Given the description of an element on the screen output the (x, y) to click on. 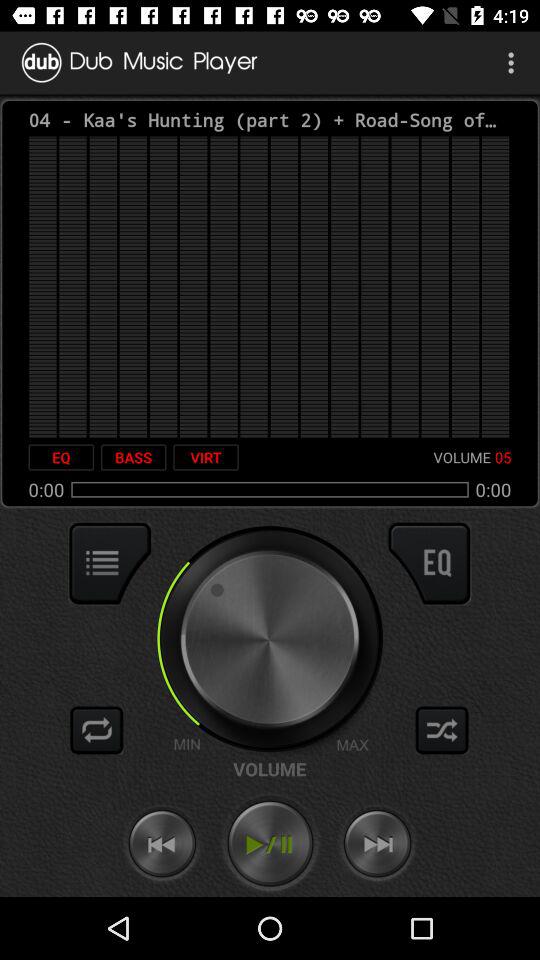
press the item to the right of the   eq   icon (133, 457)
